Given the description of an element on the screen output the (x, y) to click on. 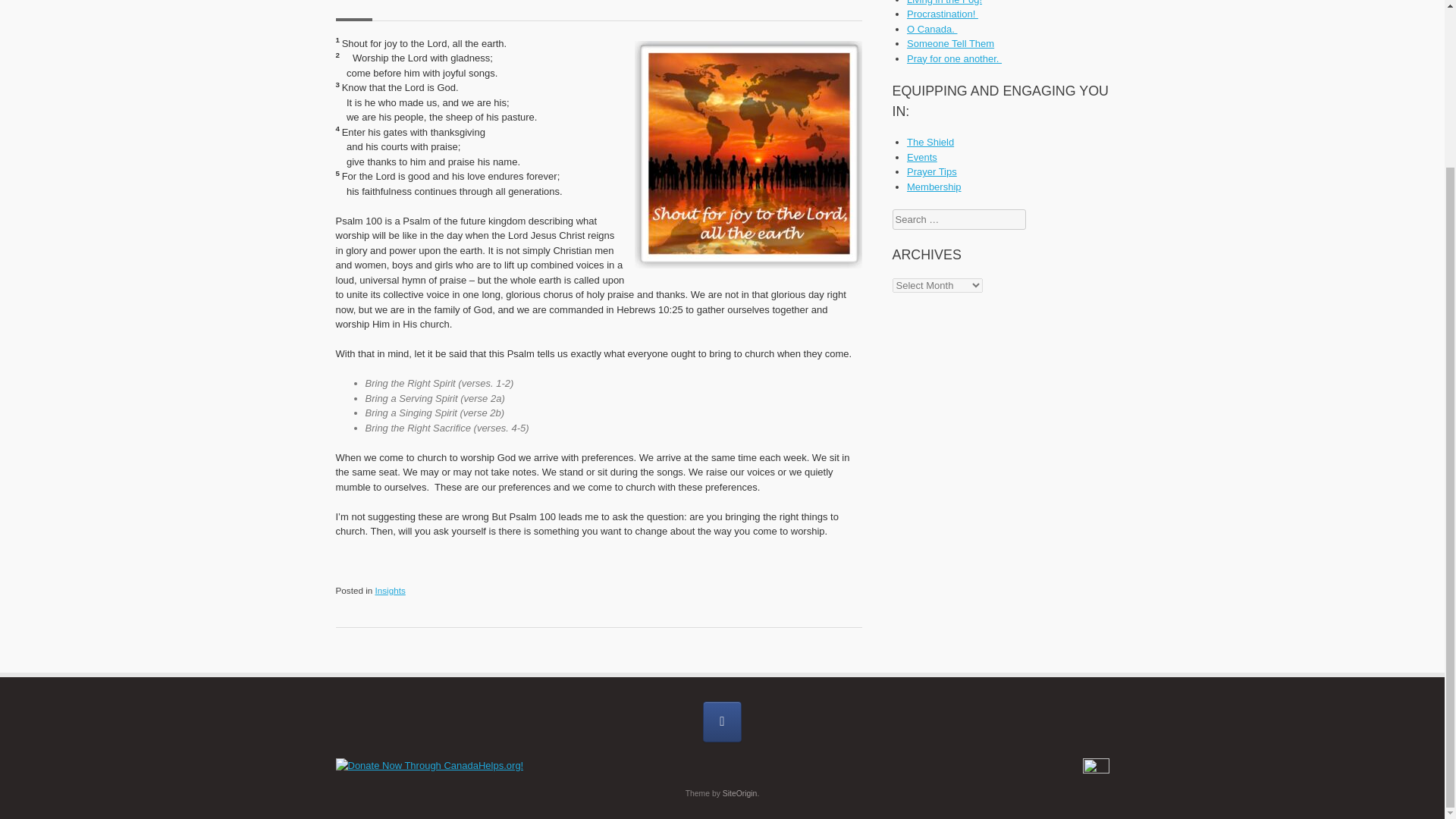
Events (922, 156)
MCF Canada on Facebook (722, 721)
Pray for one another.  (954, 58)
Prayer Tips (931, 171)
Insights (389, 590)
Procrastination!  (942, 13)
O Canada.  (932, 29)
The Shield (930, 142)
Membership (933, 186)
Living in the Fog! (944, 2)
Someone Tell Them (950, 43)
